Given the description of an element on the screen output the (x, y) to click on. 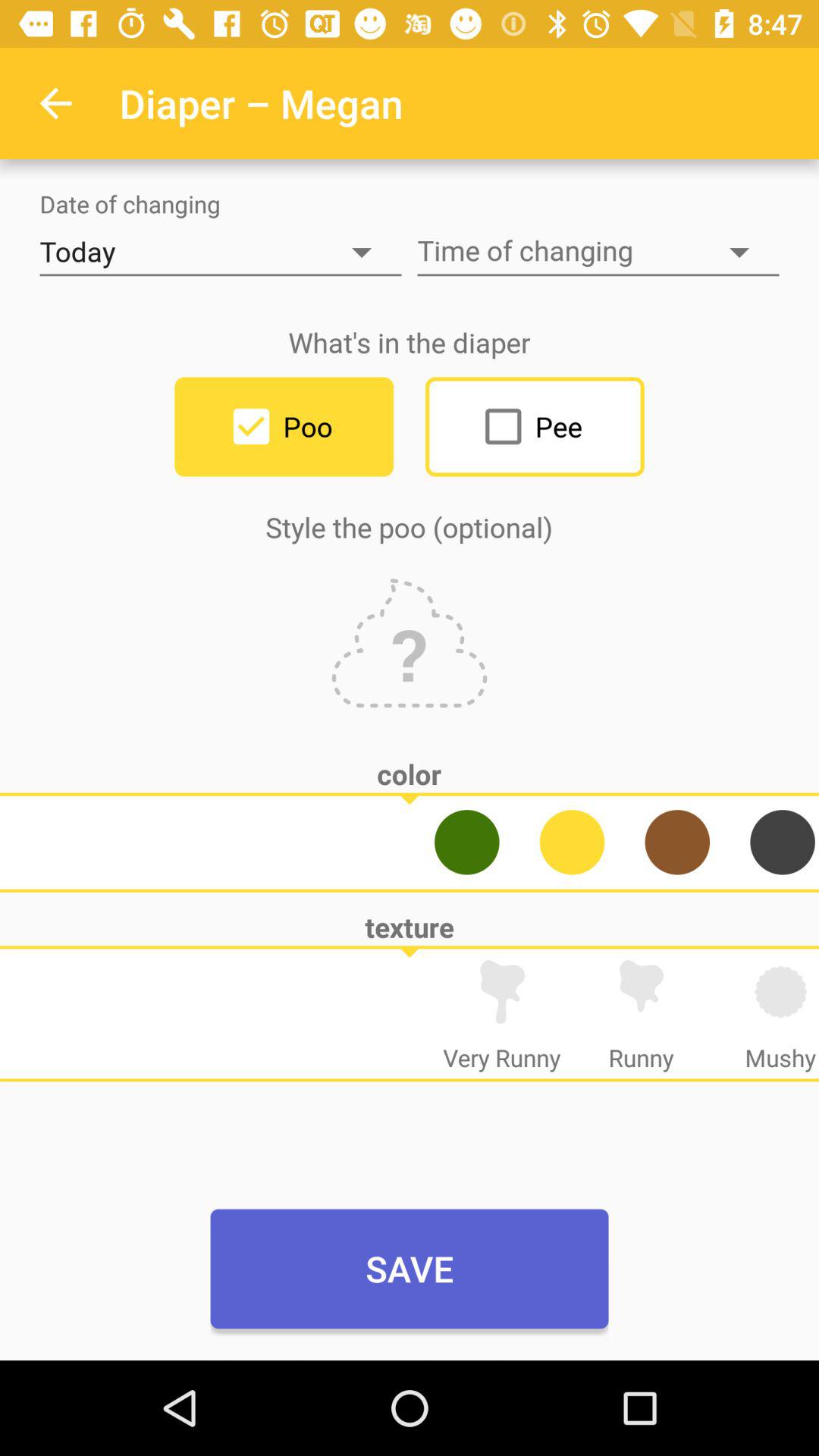
select color option (571, 842)
